Given the description of an element on the screen output the (x, y) to click on. 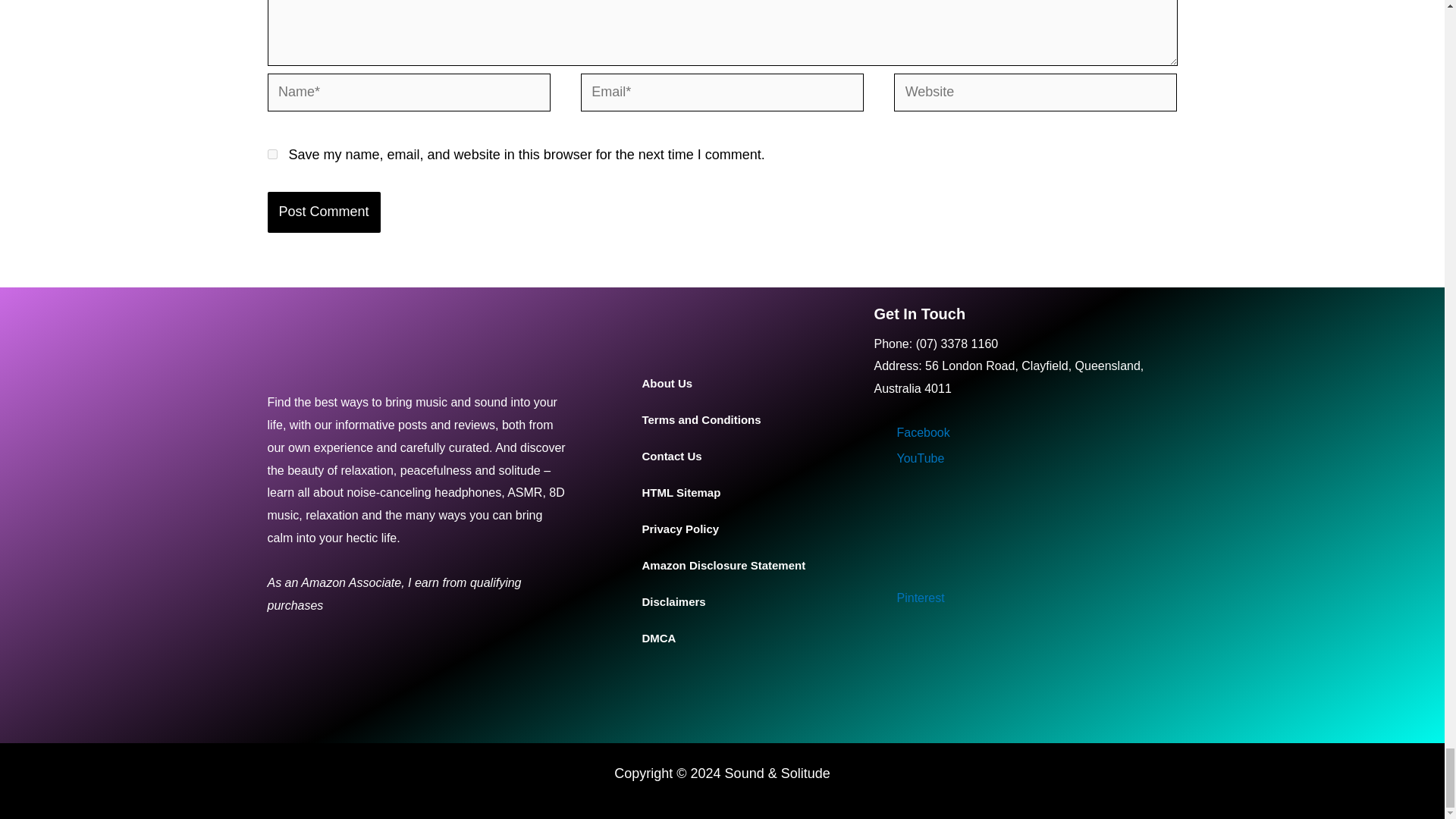
yes (271, 153)
Post Comment (323, 211)
